Given the description of an element on the screen output the (x, y) to click on. 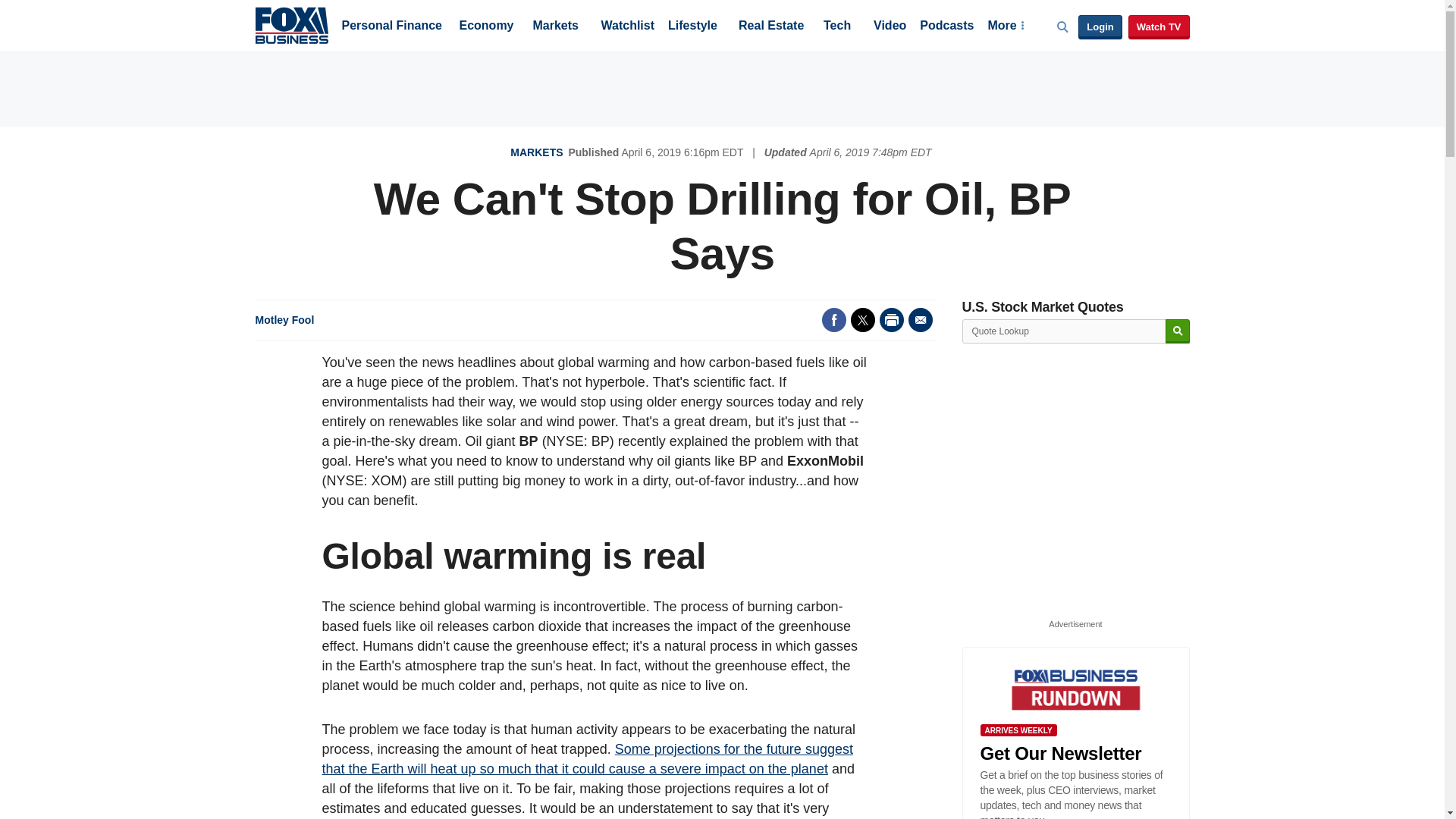
Markets (555, 27)
More (1005, 27)
Personal Finance (391, 27)
Real Estate (770, 27)
Login (1099, 27)
Fox Business (290, 24)
Tech (837, 27)
Watch TV (1158, 27)
Watchlist (626, 27)
Video (889, 27)
